Given the description of an element on the screen output the (x, y) to click on. 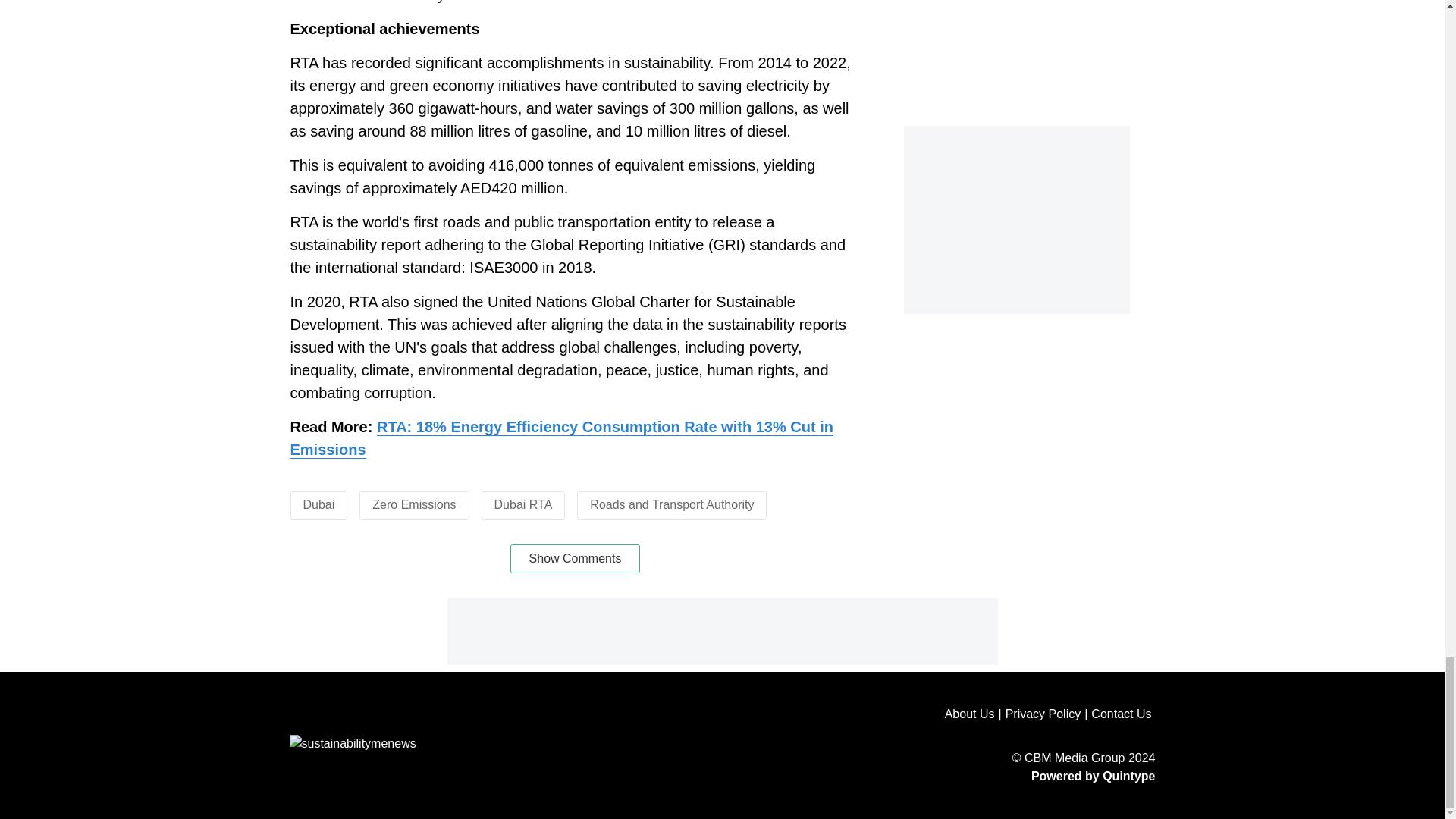
Dubai (318, 504)
Roads and Transport Authority (671, 504)
Zero Emissions (413, 504)
Dubai RTA (524, 504)
Show Comments (575, 558)
